Given the description of an element on the screen output the (x, y) to click on. 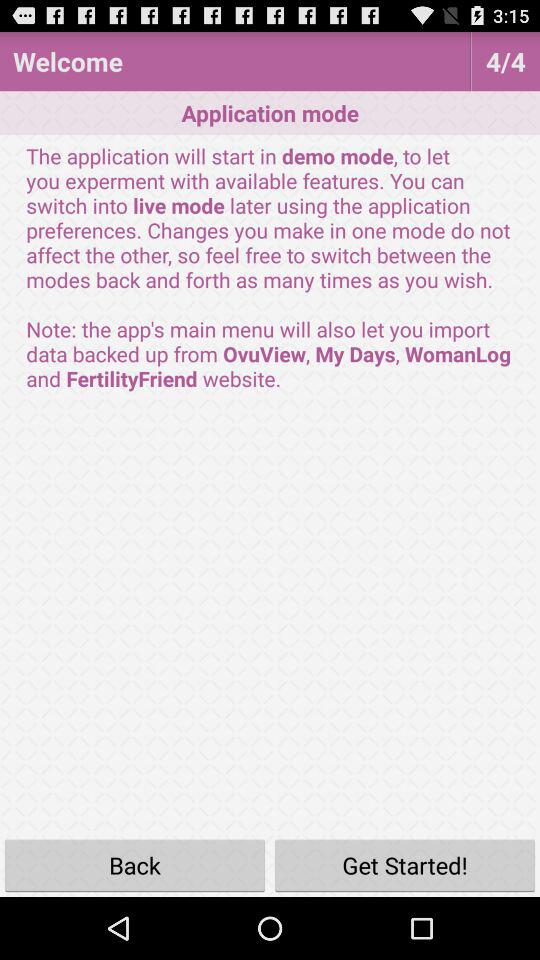
launch the icon below the application will (135, 864)
